Given the description of an element on the screen output the (x, y) to click on. 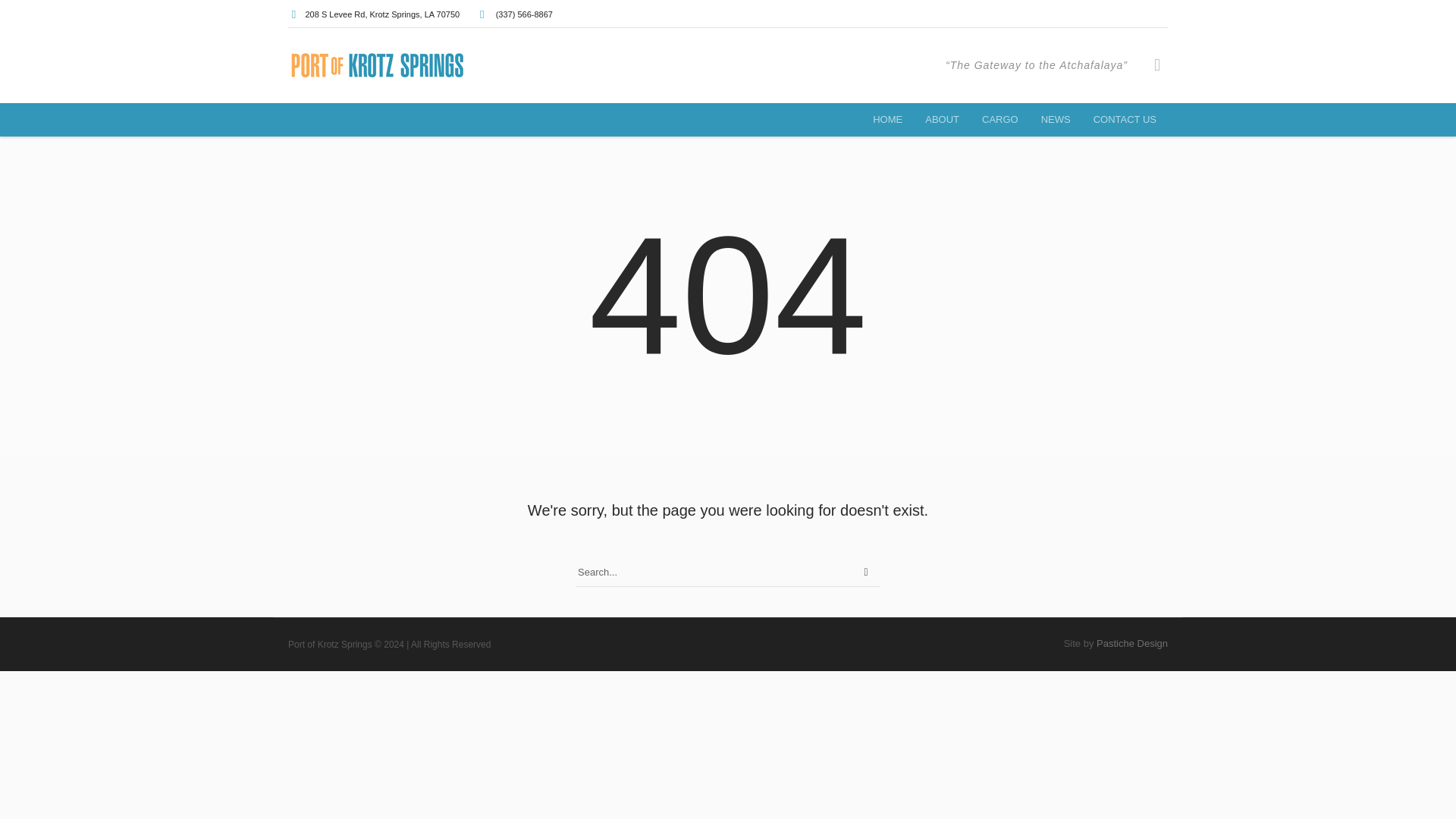
ABOUT (942, 119)
NEWS (1055, 119)
HOME (887, 119)
CARGO (1000, 119)
208 S Levee Rd, Krotz Springs, LA 70750 (382, 13)
CONTACT US (1124, 119)
Pastiche Design (1131, 643)
Home (887, 119)
